Given the description of an element on the screen output the (x, y) to click on. 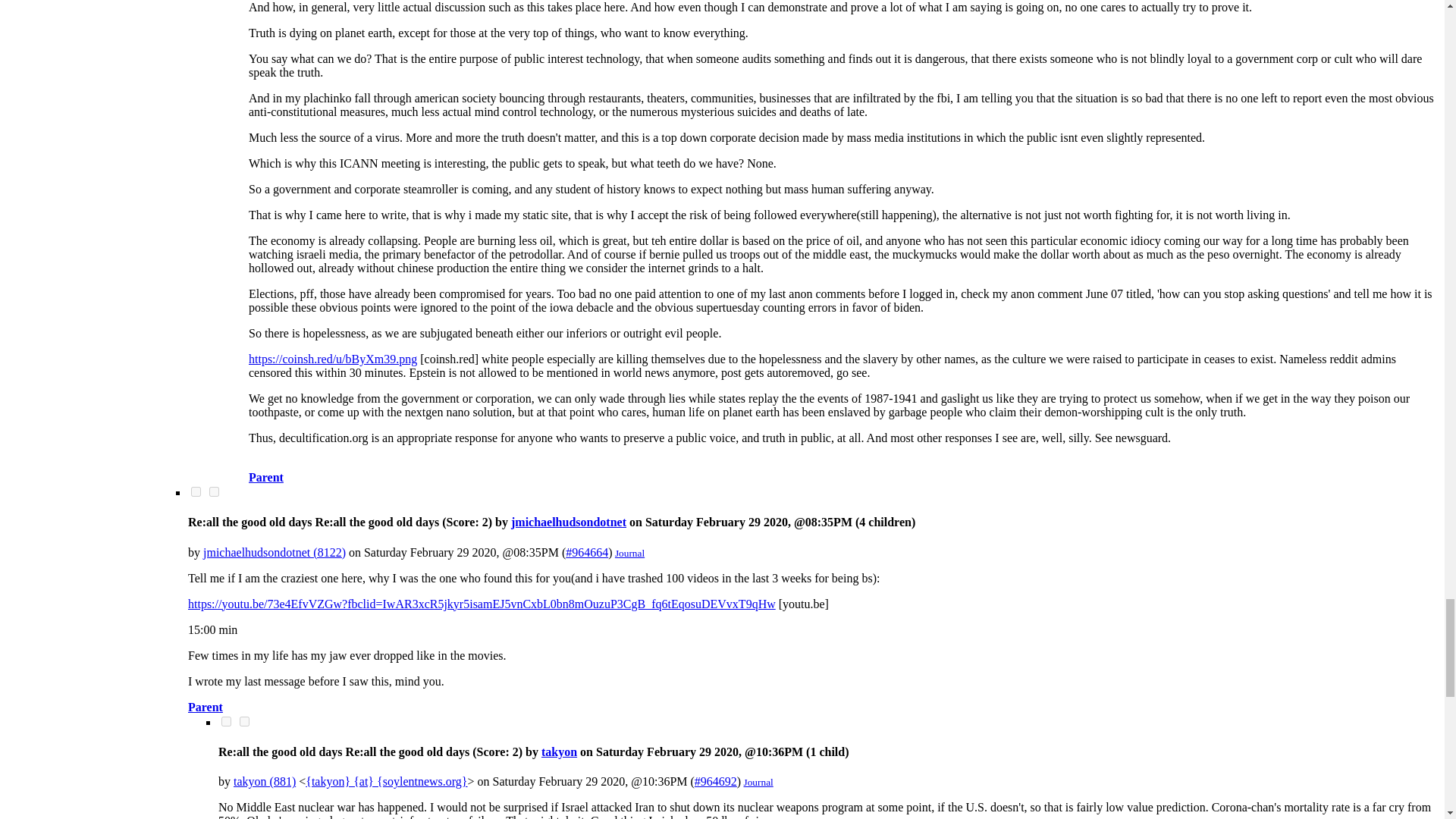
on (195, 491)
on (214, 491)
